Given the description of an element on the screen output the (x, y) to click on. 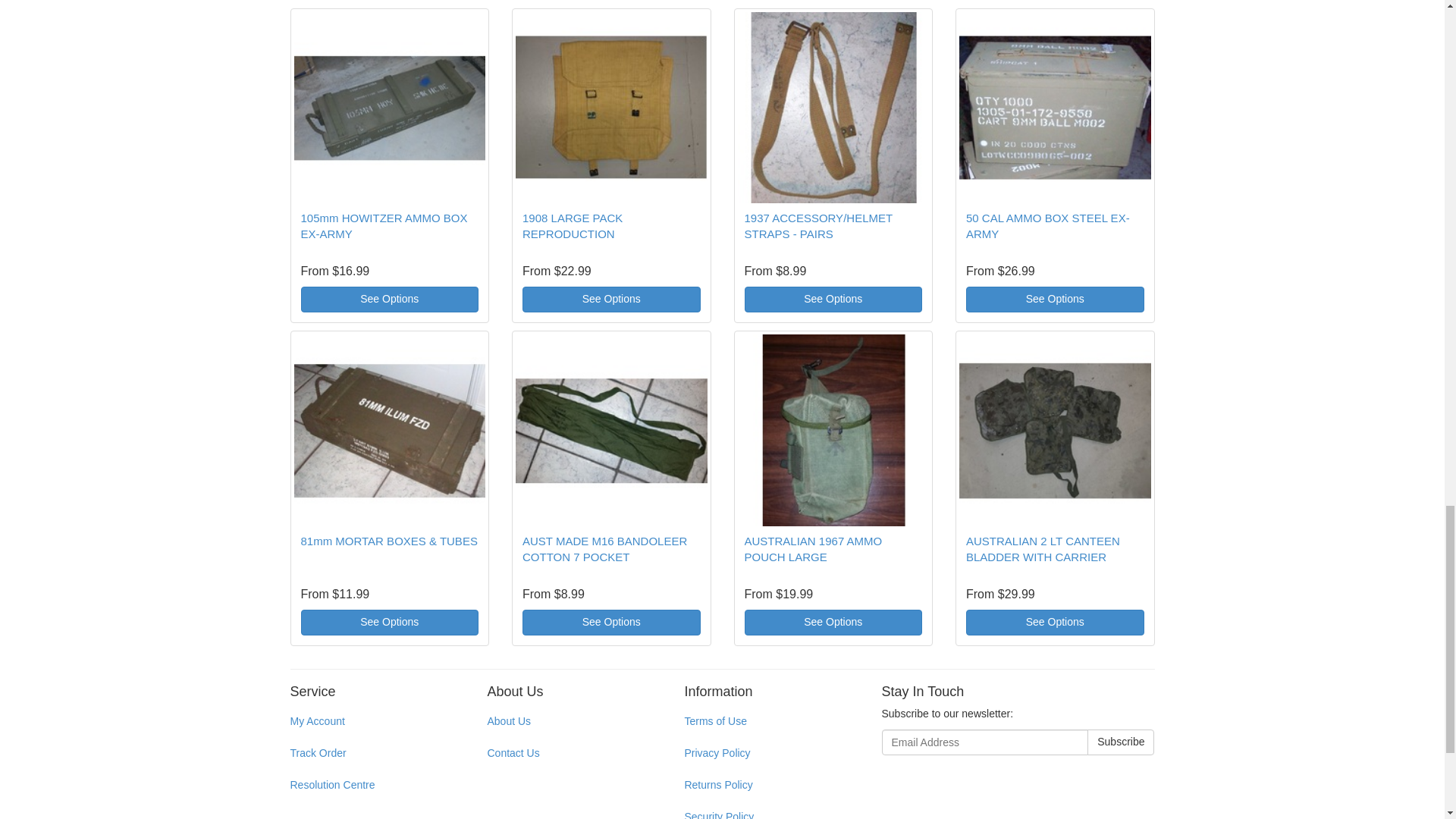
Buying Options (611, 299)
1908 LARGE PACK REPRODUCTION (572, 225)
Subscribe (1120, 742)
105mm HOWITZER AMMO BOX EX-ARMY (383, 225)
Buying Options (389, 299)
